Given the description of an element on the screen output the (x, y) to click on. 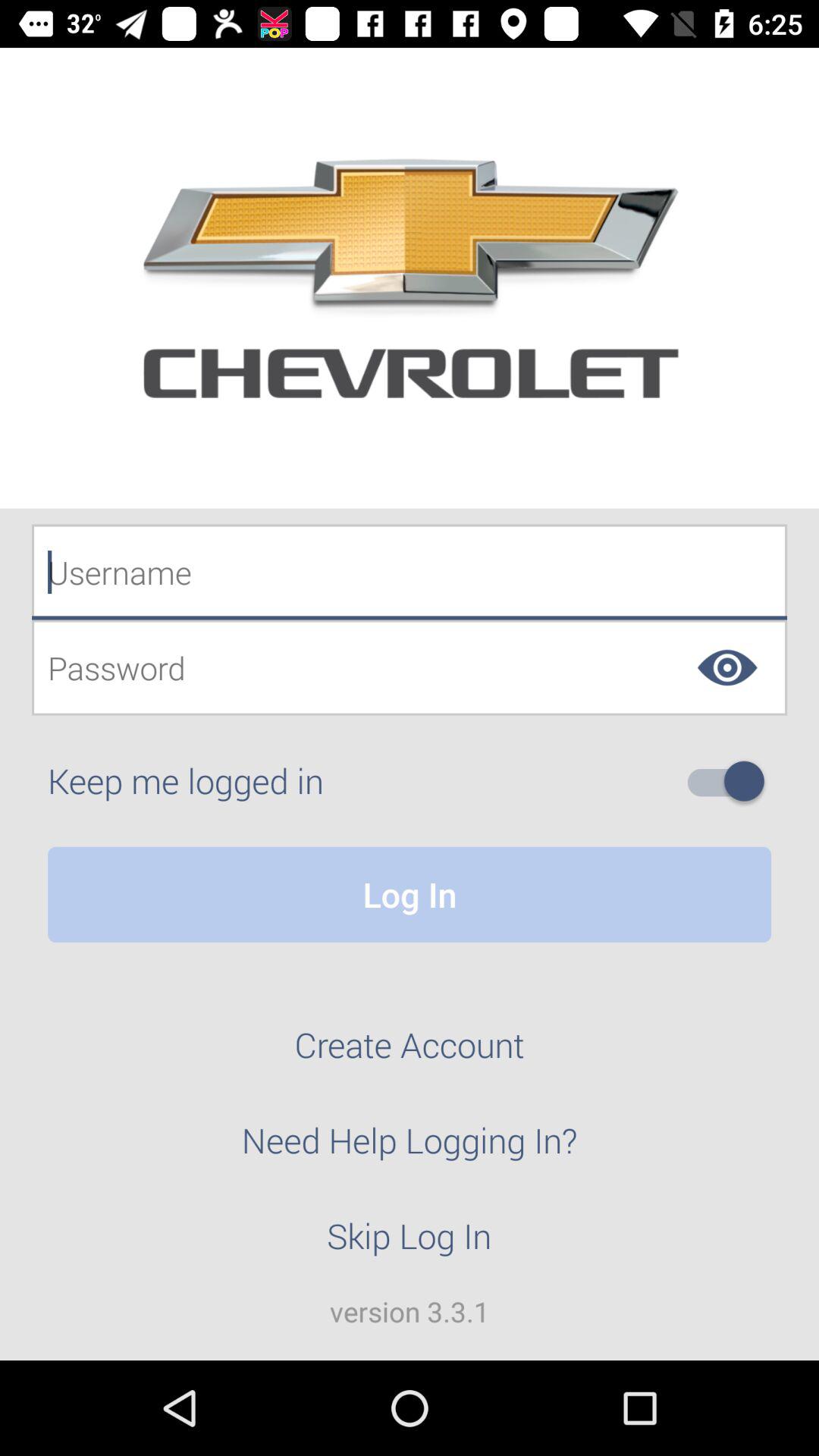
turn off icon below log in item (409, 1053)
